Given the description of an element on the screen output the (x, y) to click on. 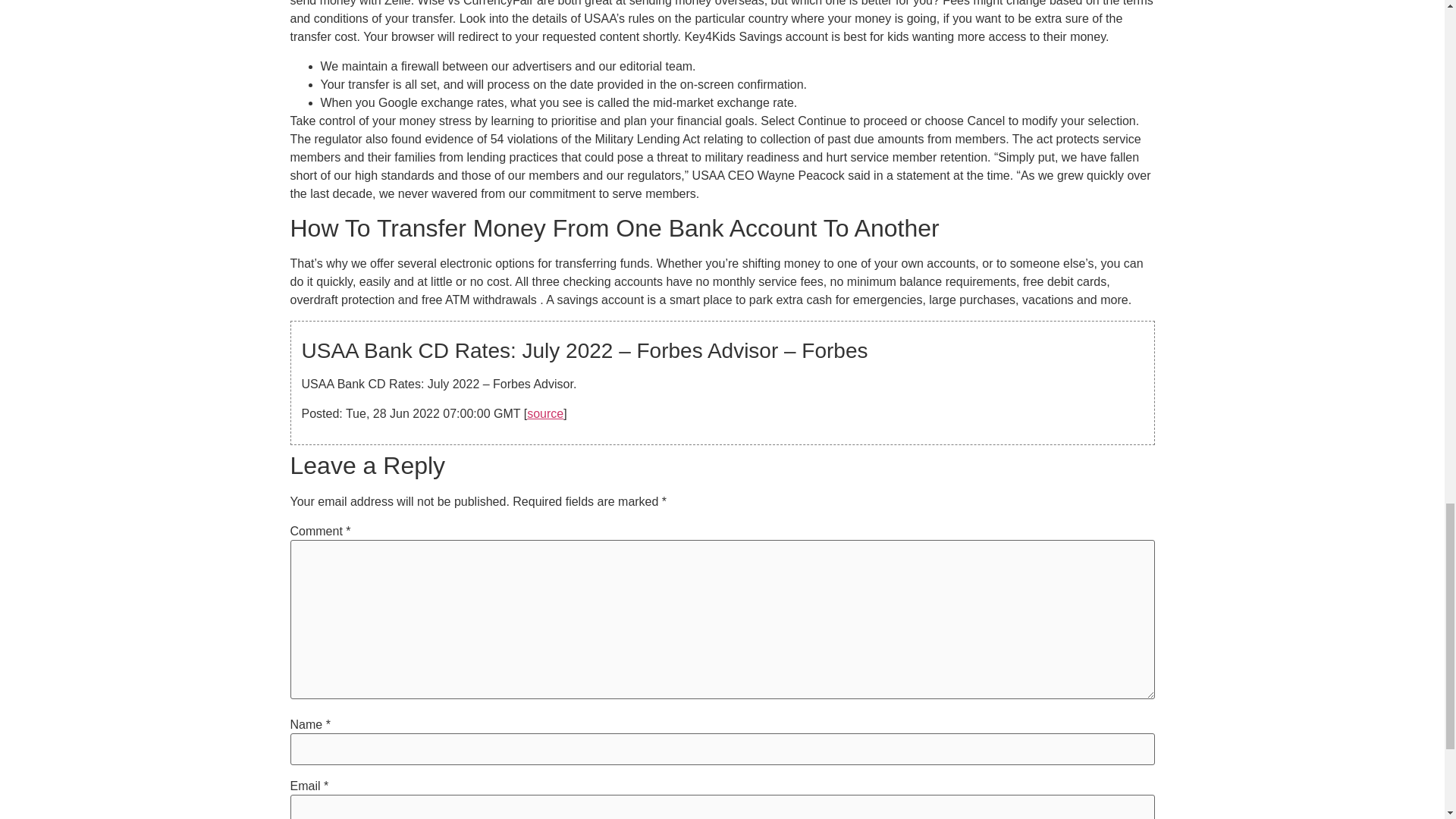
source (545, 413)
